Given the description of an element on the screen output the (x, y) to click on. 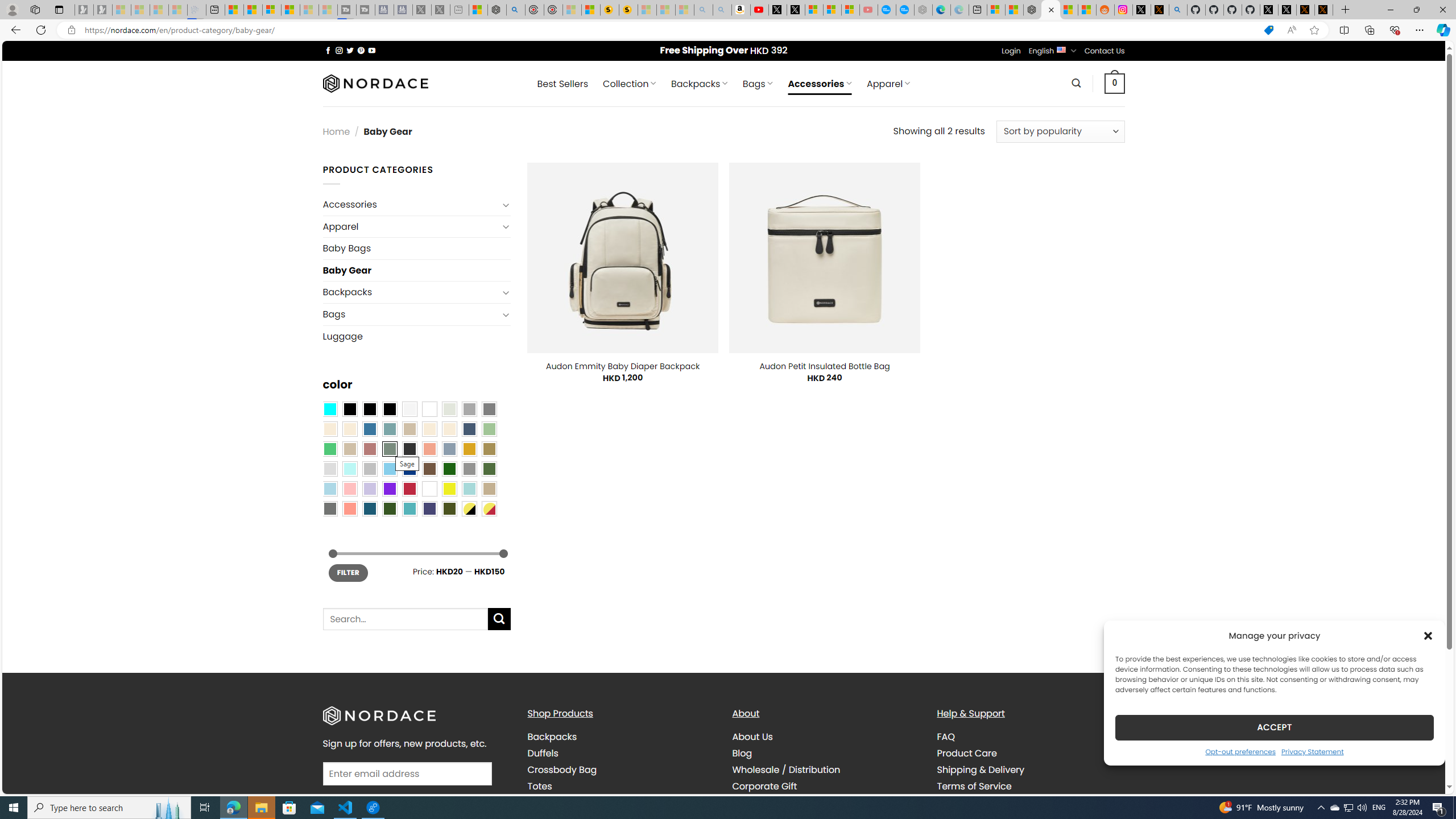
Terms of Service (973, 785)
Search for: (404, 618)
Mint (349, 468)
FAQ (1030, 737)
White (429, 488)
Shipping & Delivery (1030, 769)
Light Gray (329, 468)
Khaki (488, 488)
About Us (752, 736)
X Privacy Policy (1324, 9)
Blue (369, 428)
Aqua (468, 488)
